Given the description of an element on the screen output the (x, y) to click on. 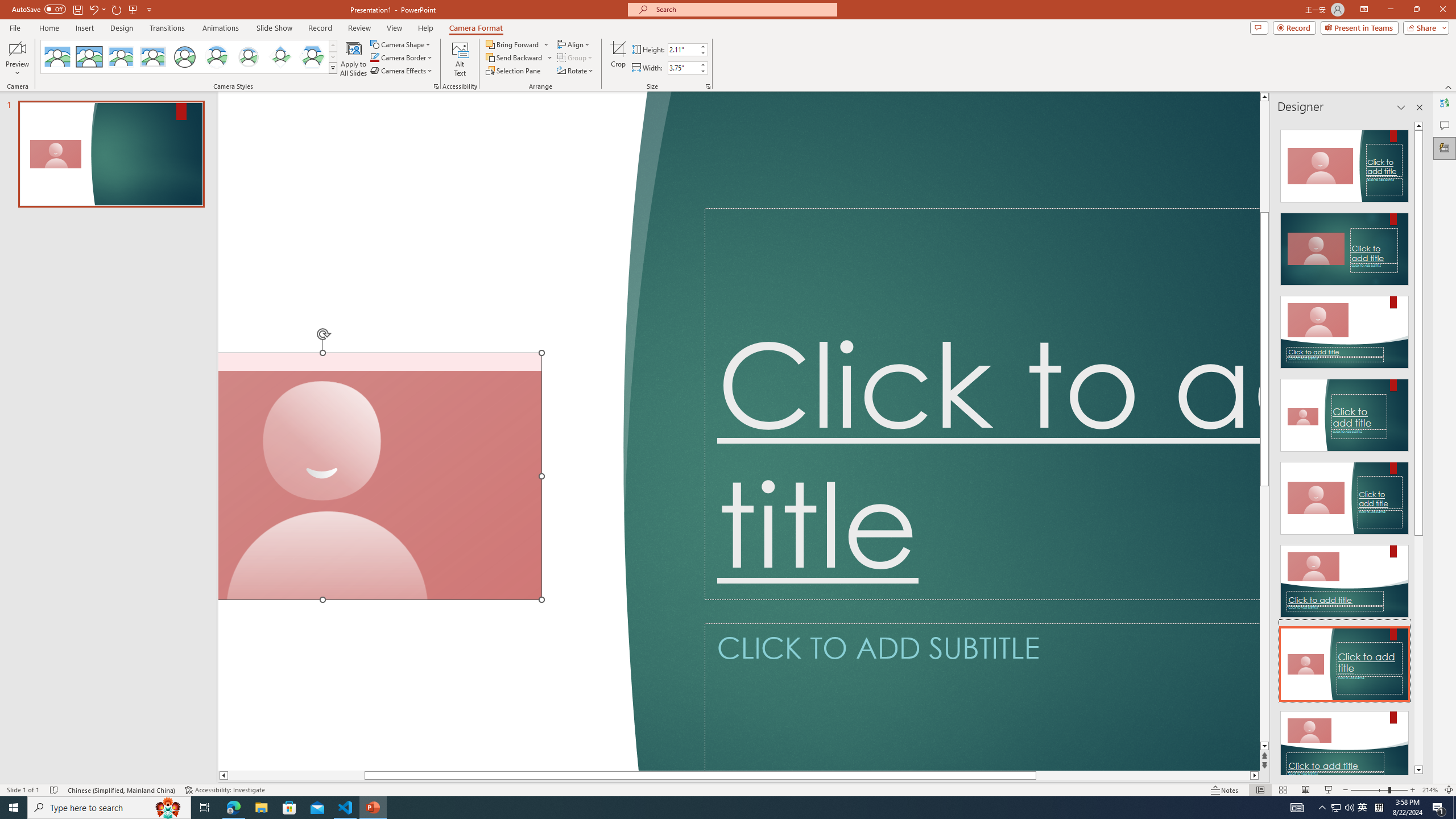
Format Object... (435, 85)
Apply to All Slides (353, 58)
Class: NetUIScrollBar (1418, 447)
Enable Camera Preview (17, 48)
Line down (1264, 746)
Less (702, 70)
Alt Text (459, 58)
